Given the description of an element on the screen output the (x, y) to click on. 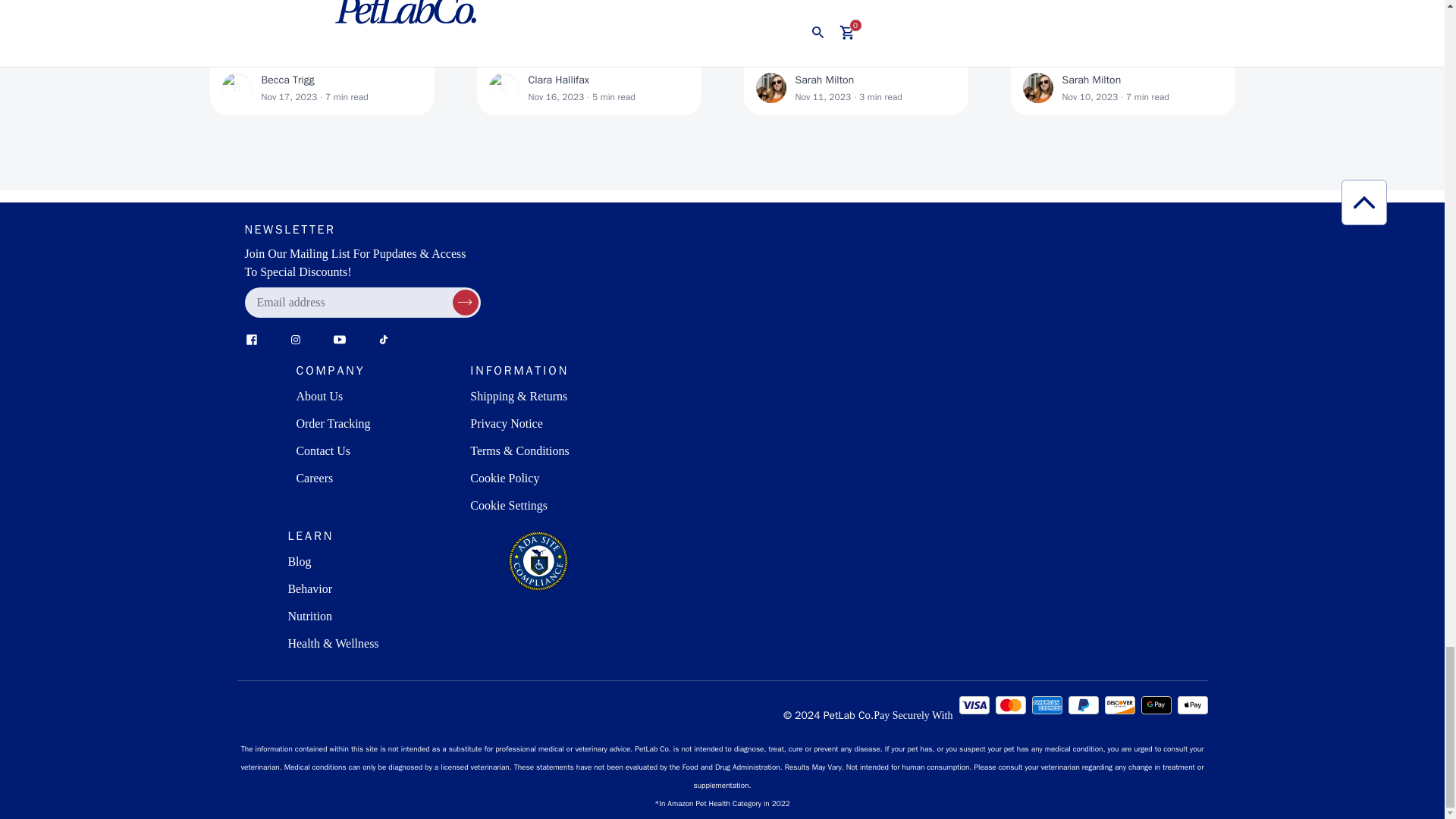
What Are Teacup Dogs? (855, 54)
What Type of Dog Is Best For You? (587, 54)
How To Protect Your Pet In A Fire (1122, 54)
